Given the description of an element on the screen output the (x, y) to click on. 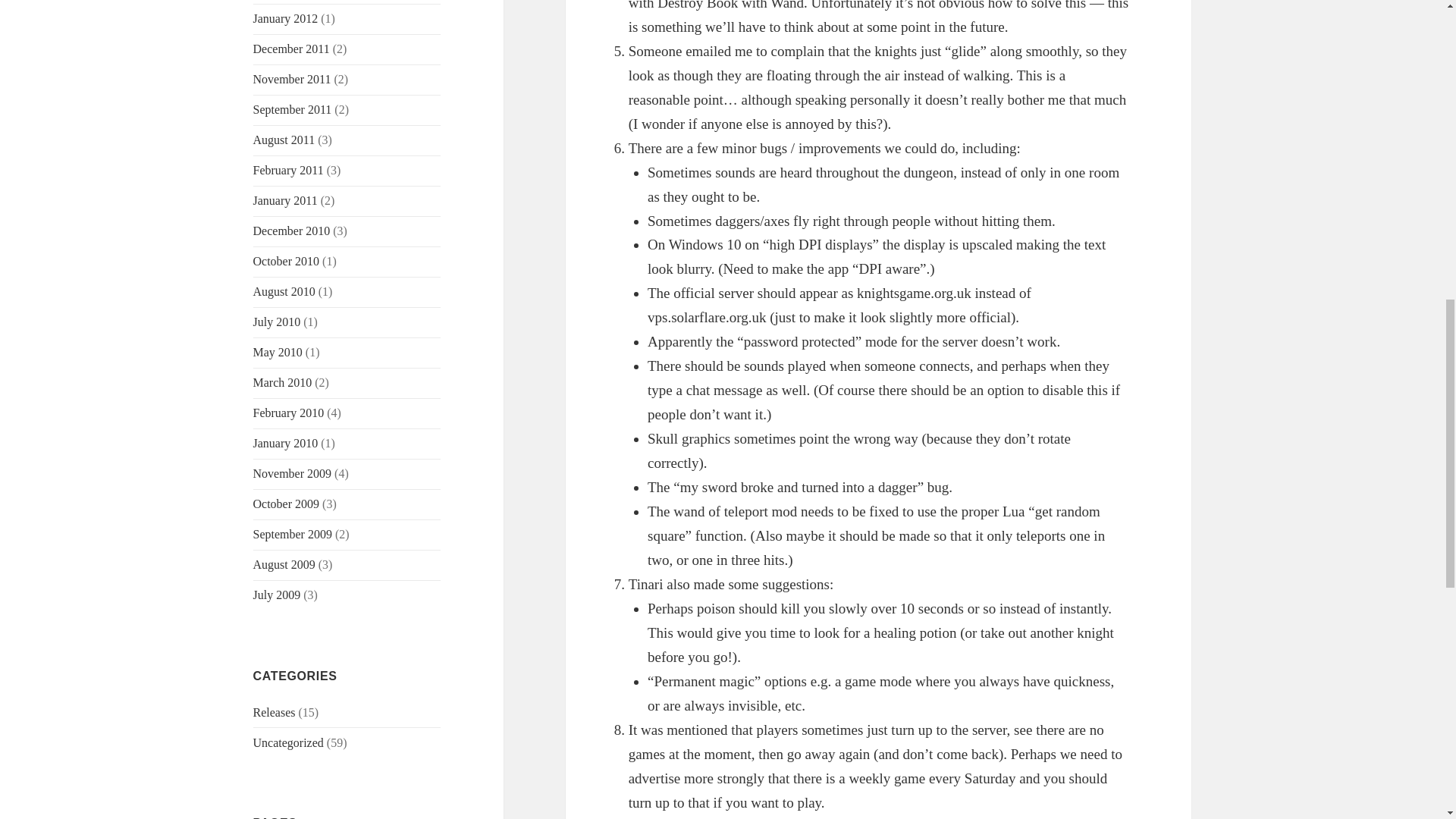
February 2010 (288, 412)
December 2010 (291, 230)
March 2010 (283, 382)
February 2011 (288, 169)
September 2011 (292, 109)
January 2010 (285, 442)
September 2009 (292, 533)
November 2009 (292, 472)
October 2009 (286, 503)
August 2011 (284, 139)
